Given the description of an element on the screen output the (x, y) to click on. 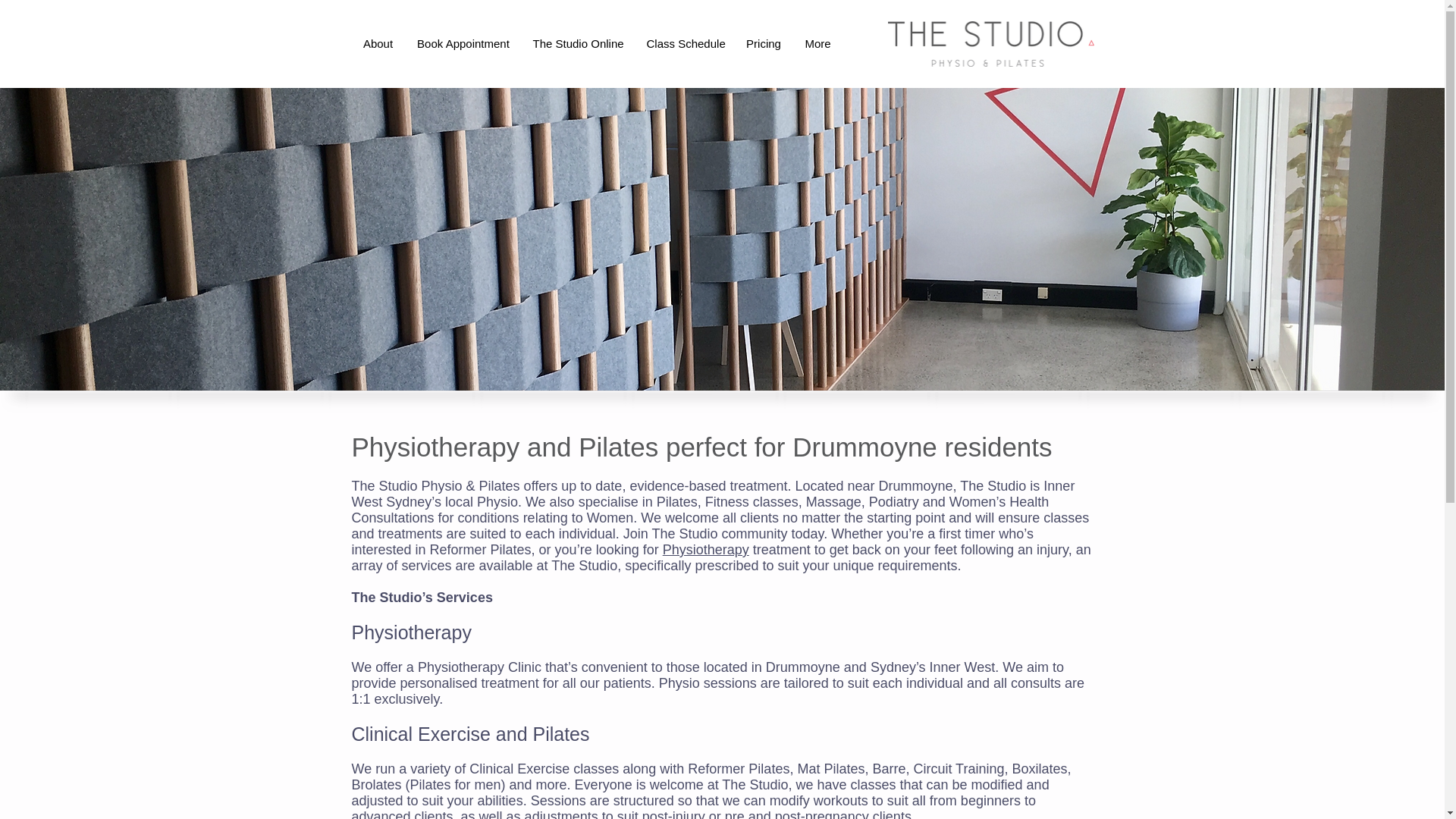
Pricing (762, 43)
About (377, 43)
The Studio Online (577, 43)
Book Appointment (462, 43)
Class Schedule (684, 43)
Physiotherapy (705, 549)
